Given the description of an element on the screen output the (x, y) to click on. 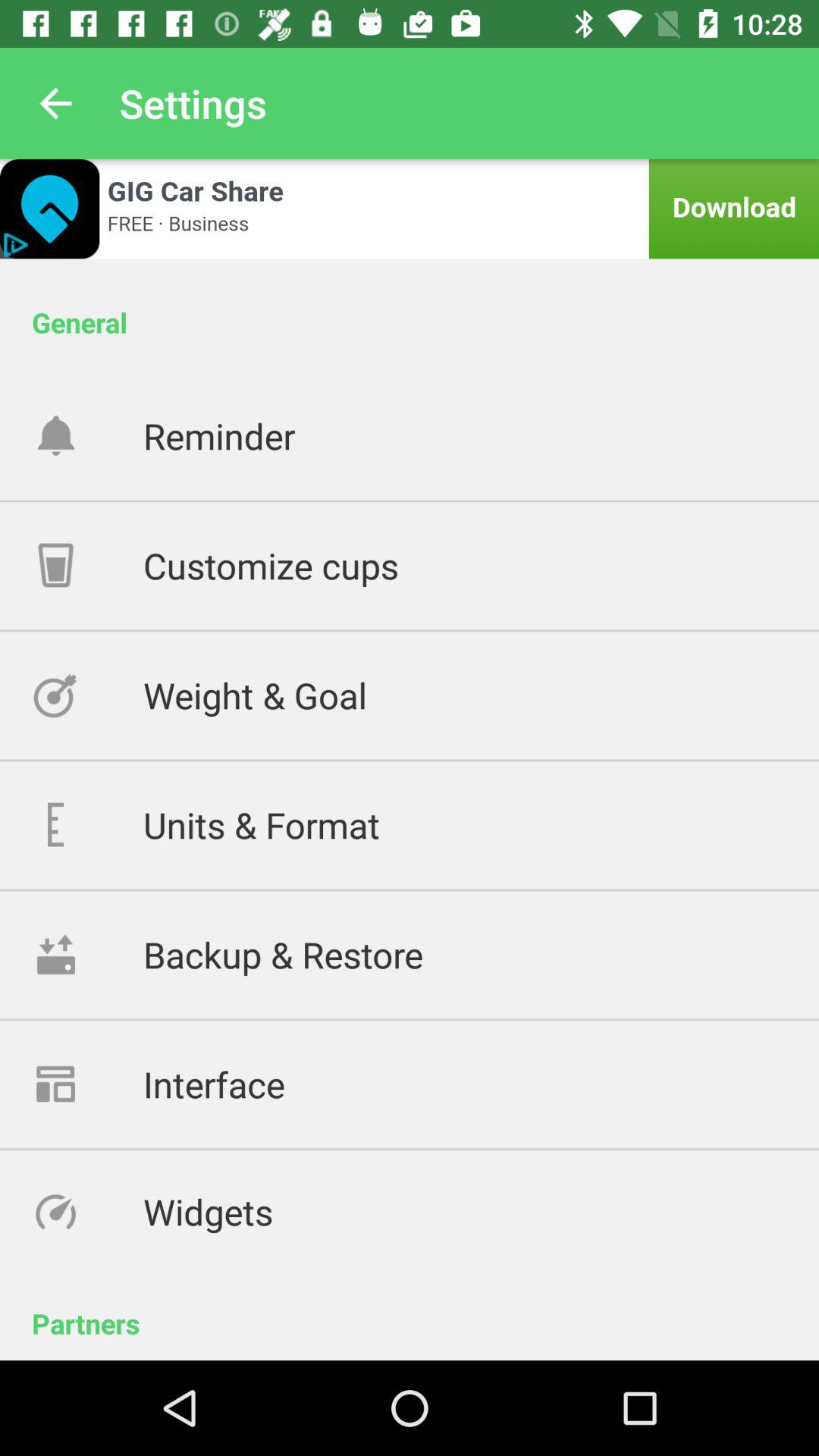
turn on the item to the left of settings icon (55, 103)
